Given the description of an element on the screen output the (x, y) to click on. 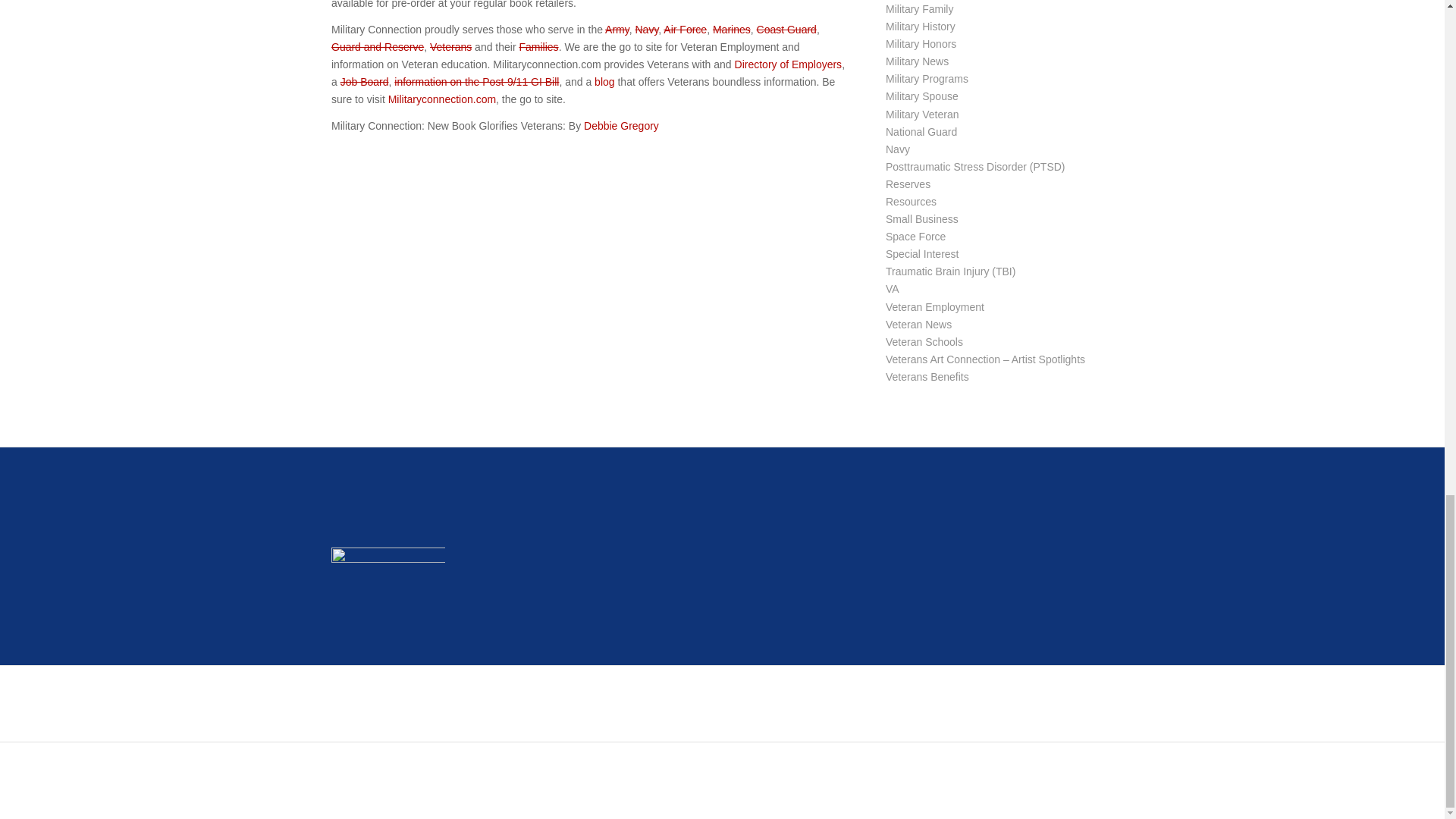
Air Force (684, 29)
Job Board (364, 81)
Militaryconnection.com (442, 99)
Marines (732, 29)
Guard and Reserve (377, 46)
Army (616, 29)
Navy (646, 29)
Debbie Gregory (621, 125)
Coast Guard (786, 29)
Directory of Employers (789, 64)
